Given the description of an element on the screen output the (x, y) to click on. 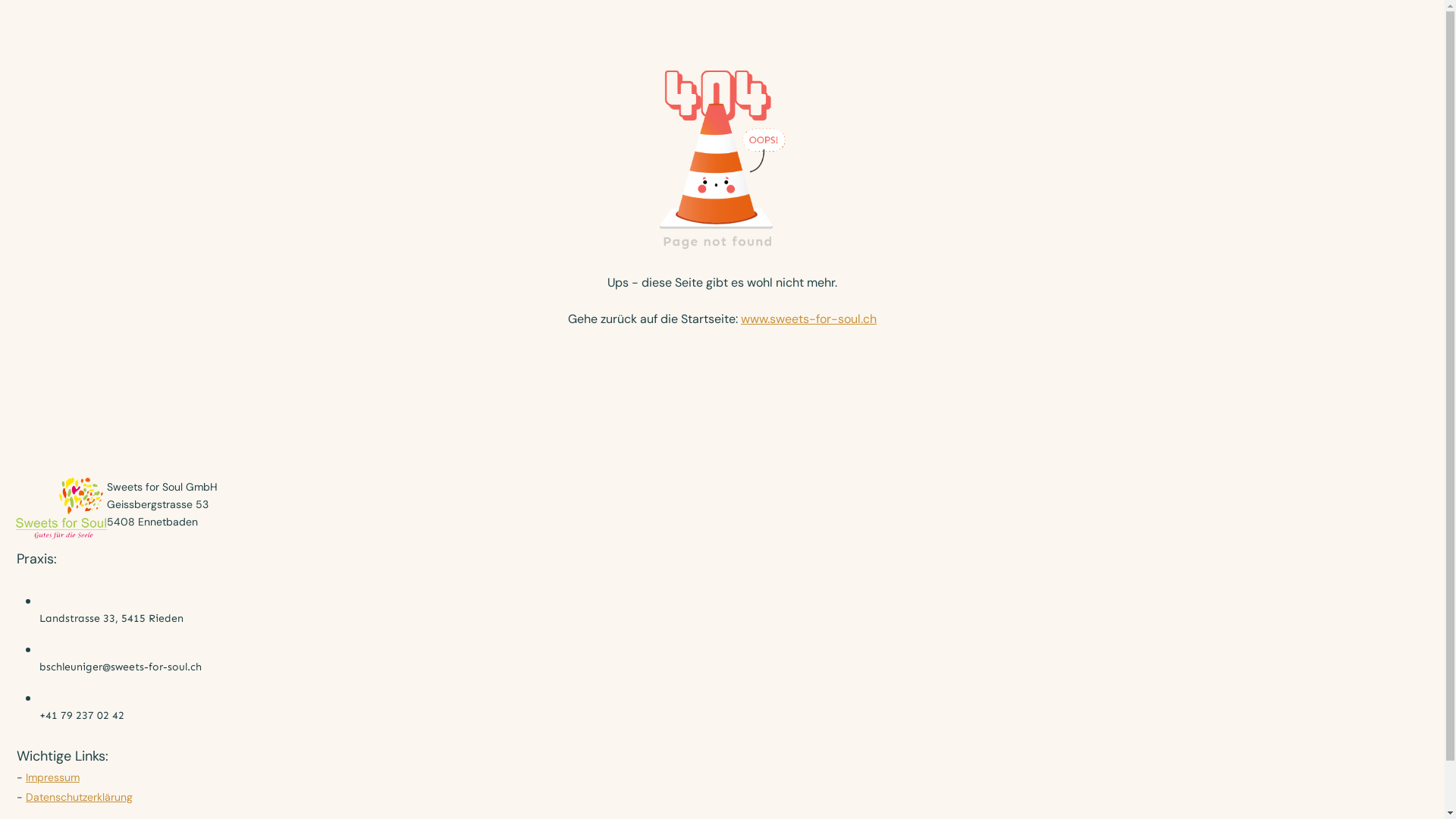
Impressum Element type: text (52, 777)
404 img alpha-8 (1) Element type: hover (722, 154)
www.sweets-for-soul.ch Element type: text (808, 318)
